Given the description of an element on the screen output the (x, y) to click on. 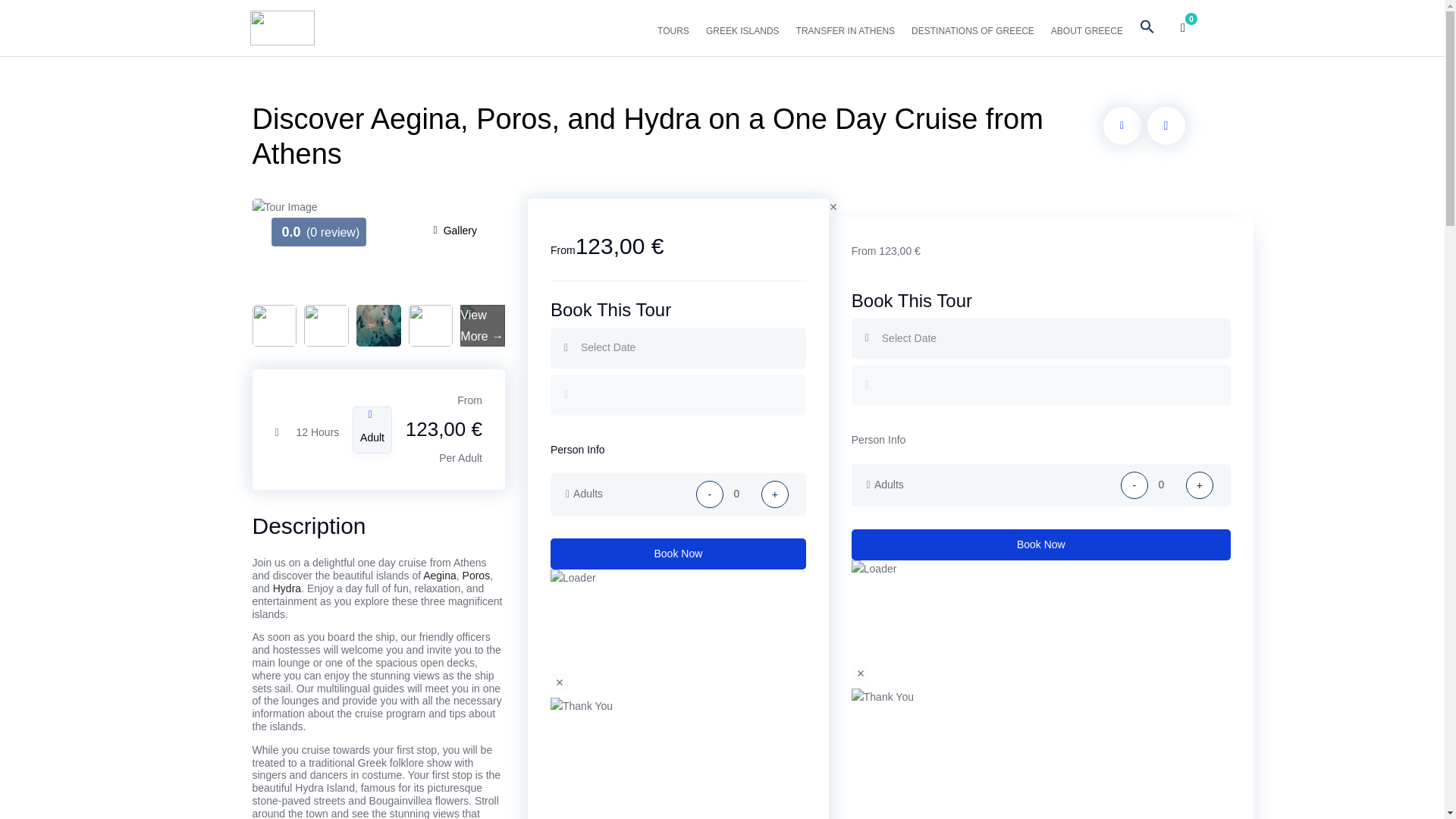
0 (742, 494)
0 (1167, 484)
Hydra Wikipedia (287, 588)
TOURS (679, 29)
Poros Wikipedia (476, 575)
GREEK ISLANDS (749, 29)
View Cart (1182, 26)
ABOUT GREECE (1093, 29)
DESTINATIONS OF GREECE (978, 29)
TRANSFER IN ATHENS (851, 29)
Aegina Wikipedia (440, 575)
Gallery (455, 230)
